Given the description of an element on the screen output the (x, y) to click on. 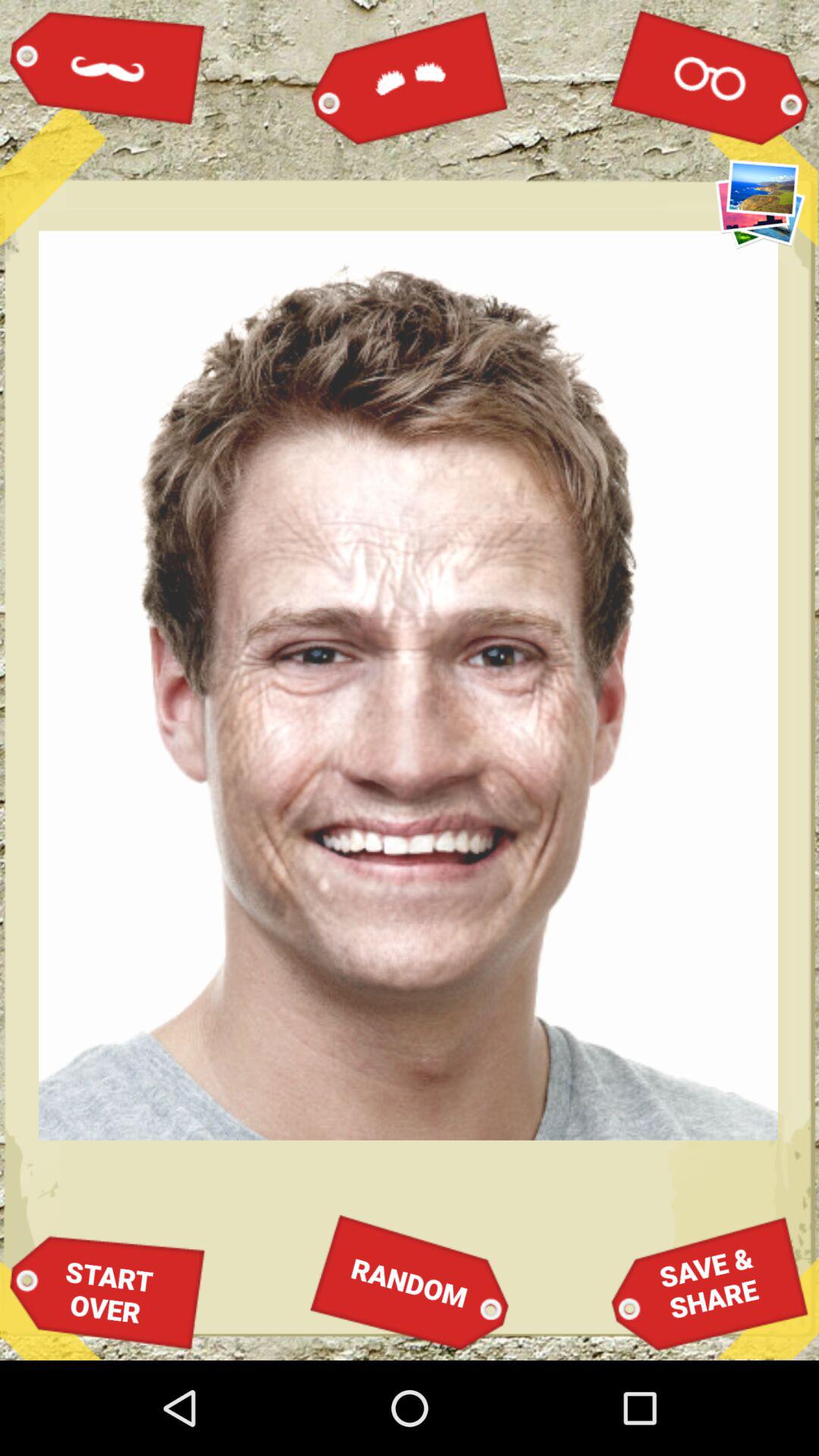
select icon next to random (709, 1282)
